Given the description of an element on the screen output the (x, y) to click on. 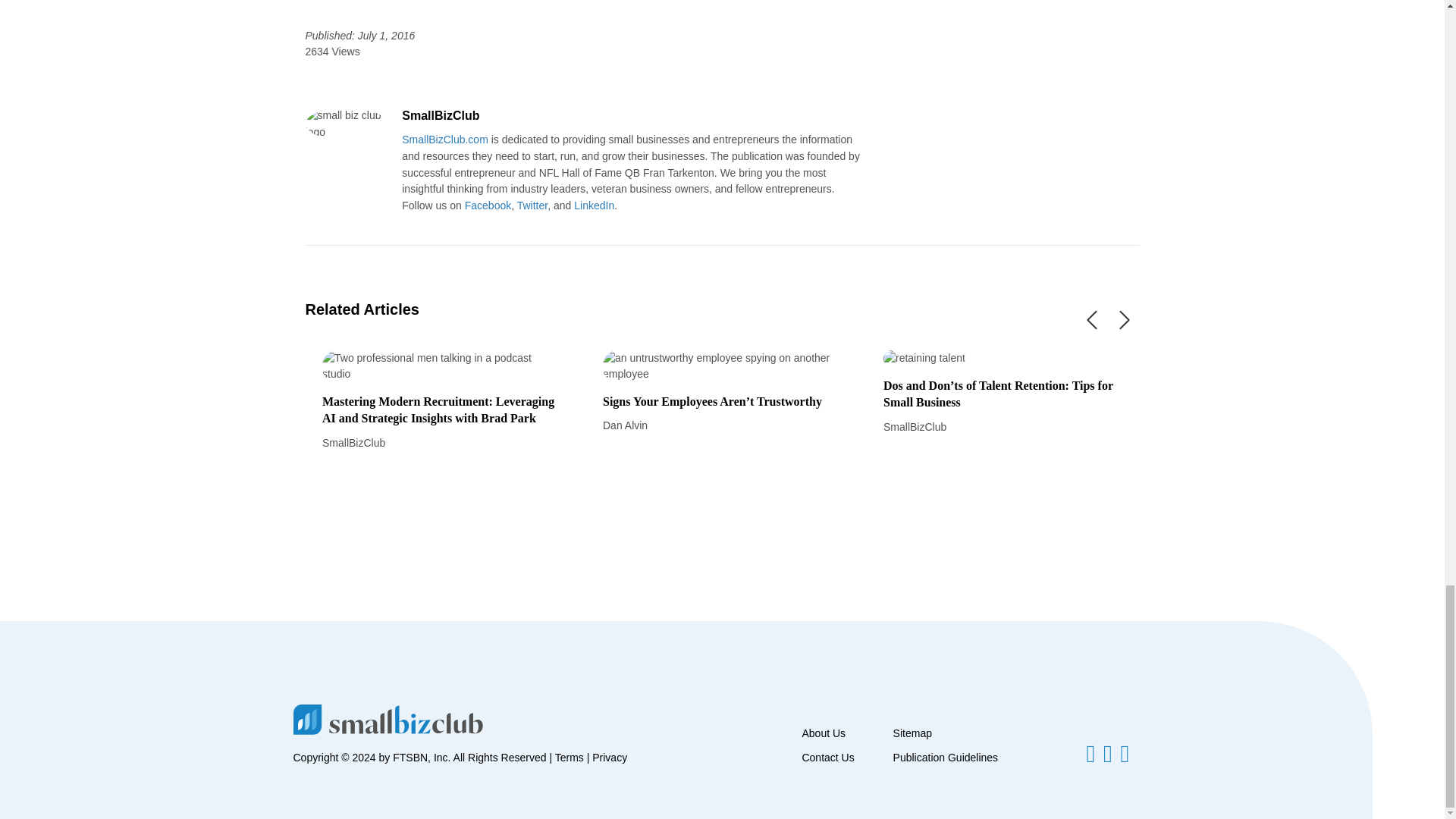
SmallBizClub.com (444, 139)
SmallBizClub-Primary-Logo-2023 (386, 718)
Twitter (531, 205)
Facebook (487, 205)
